Given the description of an element on the screen output the (x, y) to click on. 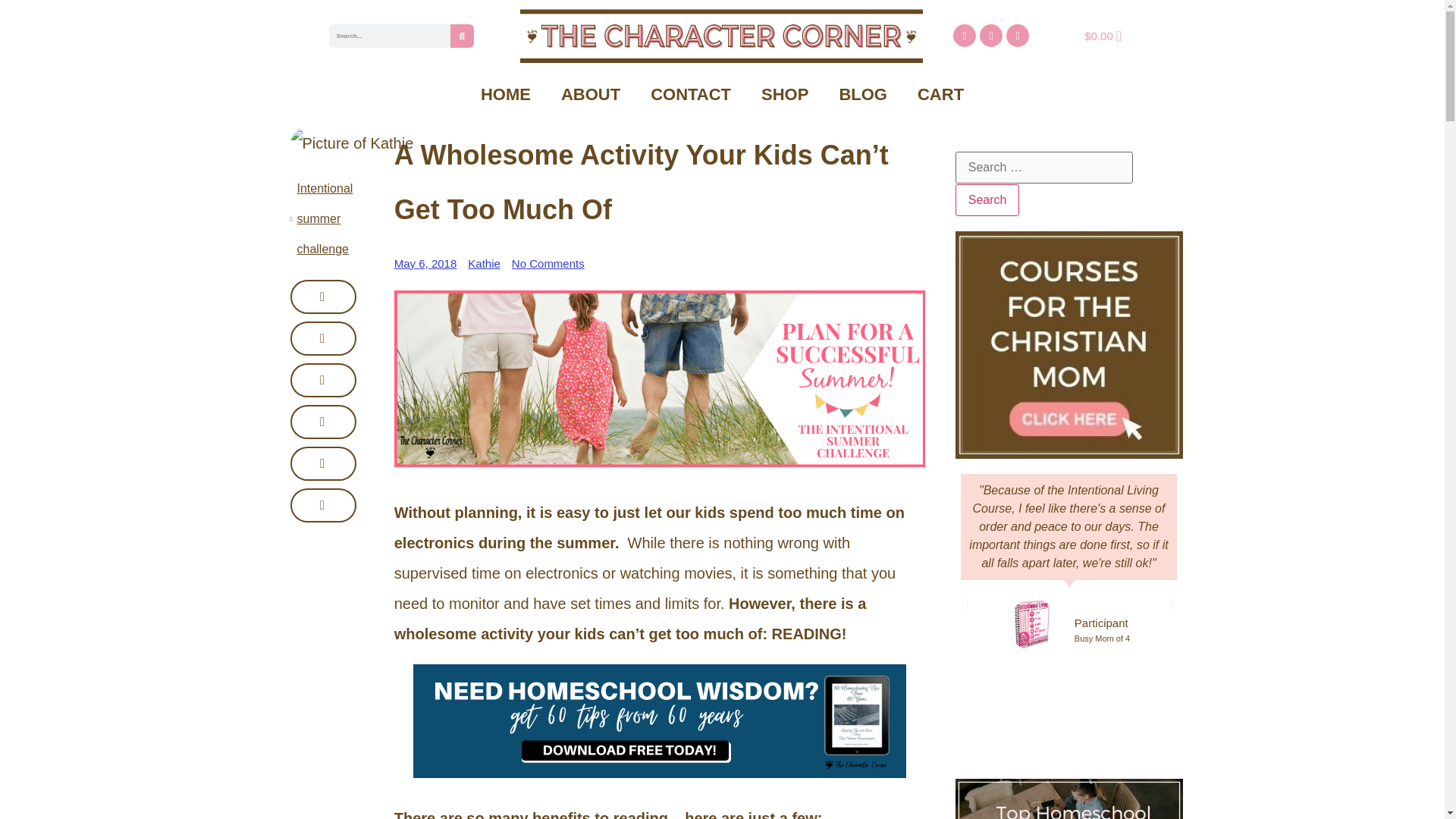
CONTACT (689, 94)
Search (987, 200)
ABOUT (590, 94)
CART (940, 94)
SHOP (784, 94)
Search (987, 200)
BLOG (863, 94)
HOME (505, 94)
